Given the description of an element on the screen output the (x, y) to click on. 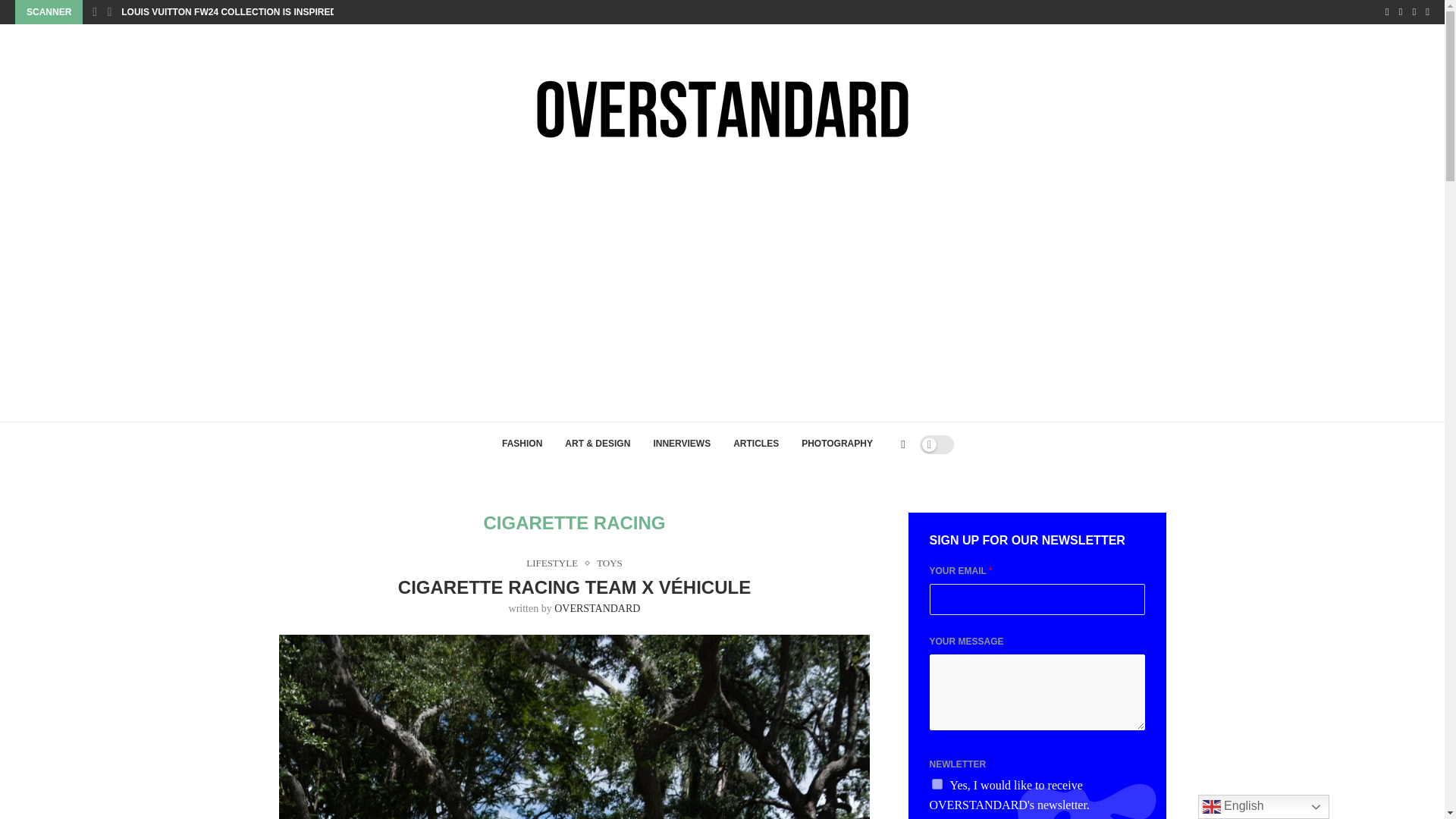
LIFESTYLE (555, 563)
Yes, I would like to receive OVERSTANDARD's newsletter. (936, 783)
INNERVIEWS (682, 443)
TOYS (609, 563)
ym2tmkes (574, 726)
PHOTOGRAPHY (836, 443)
LOUIS VUITTON FW24 COLLECTION IS INSPIRED BY THE WEST (260, 12)
FASHION (521, 443)
ARTICLES (756, 443)
